Given the description of an element on the screen output the (x, y) to click on. 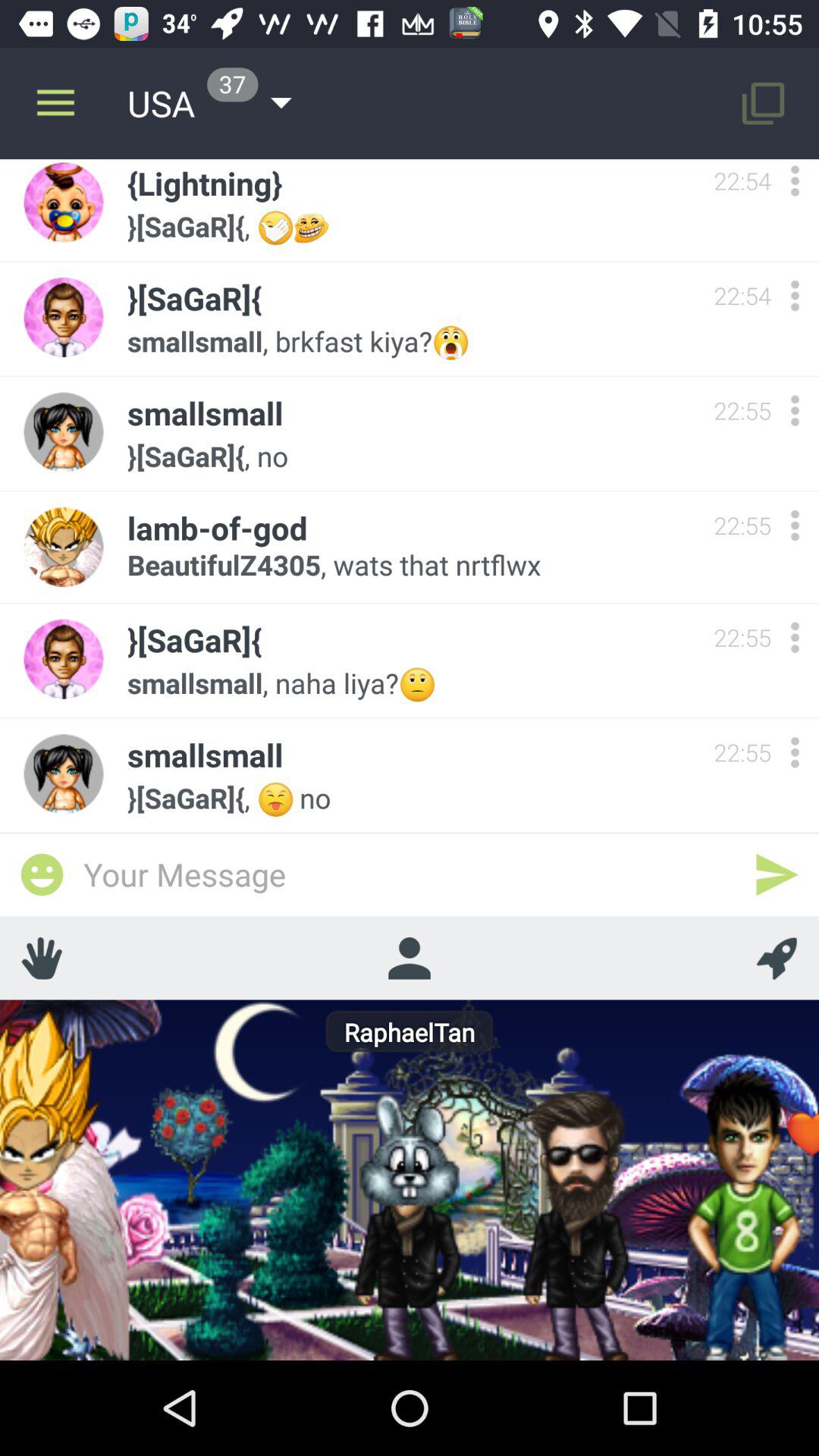
open file description (795, 410)
